Given the description of an element on the screen output the (x, y) to click on. 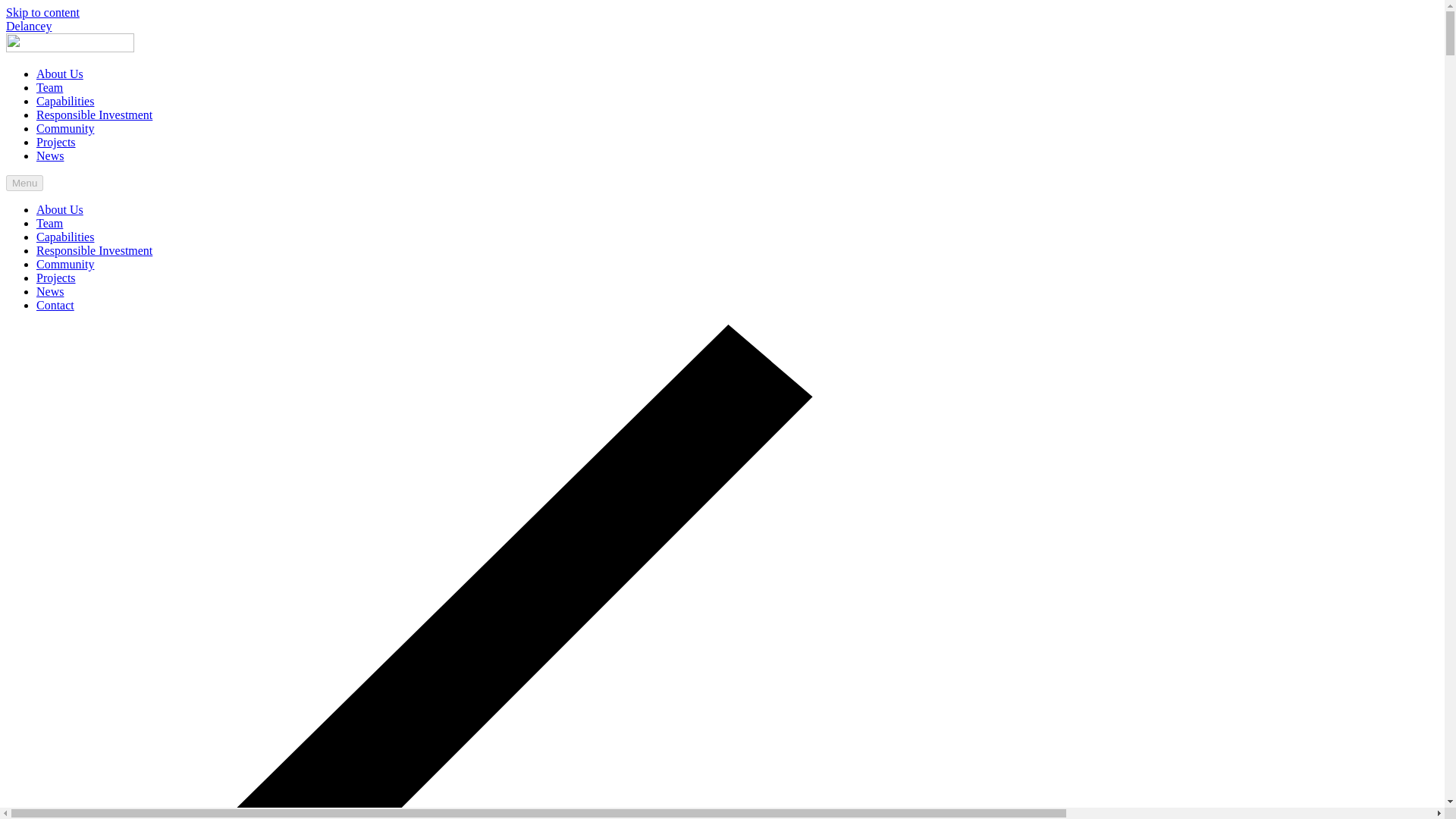
About Us (59, 209)
Team (49, 87)
Capabilities (65, 236)
Projects (55, 141)
Responsible Investment (94, 250)
About Us (59, 73)
Community (65, 264)
News (50, 291)
Projects (55, 277)
Community (65, 128)
Capabilities (65, 101)
Team (49, 223)
Menu (24, 182)
Contact (55, 305)
